Given the description of an element on the screen output the (x, y) to click on. 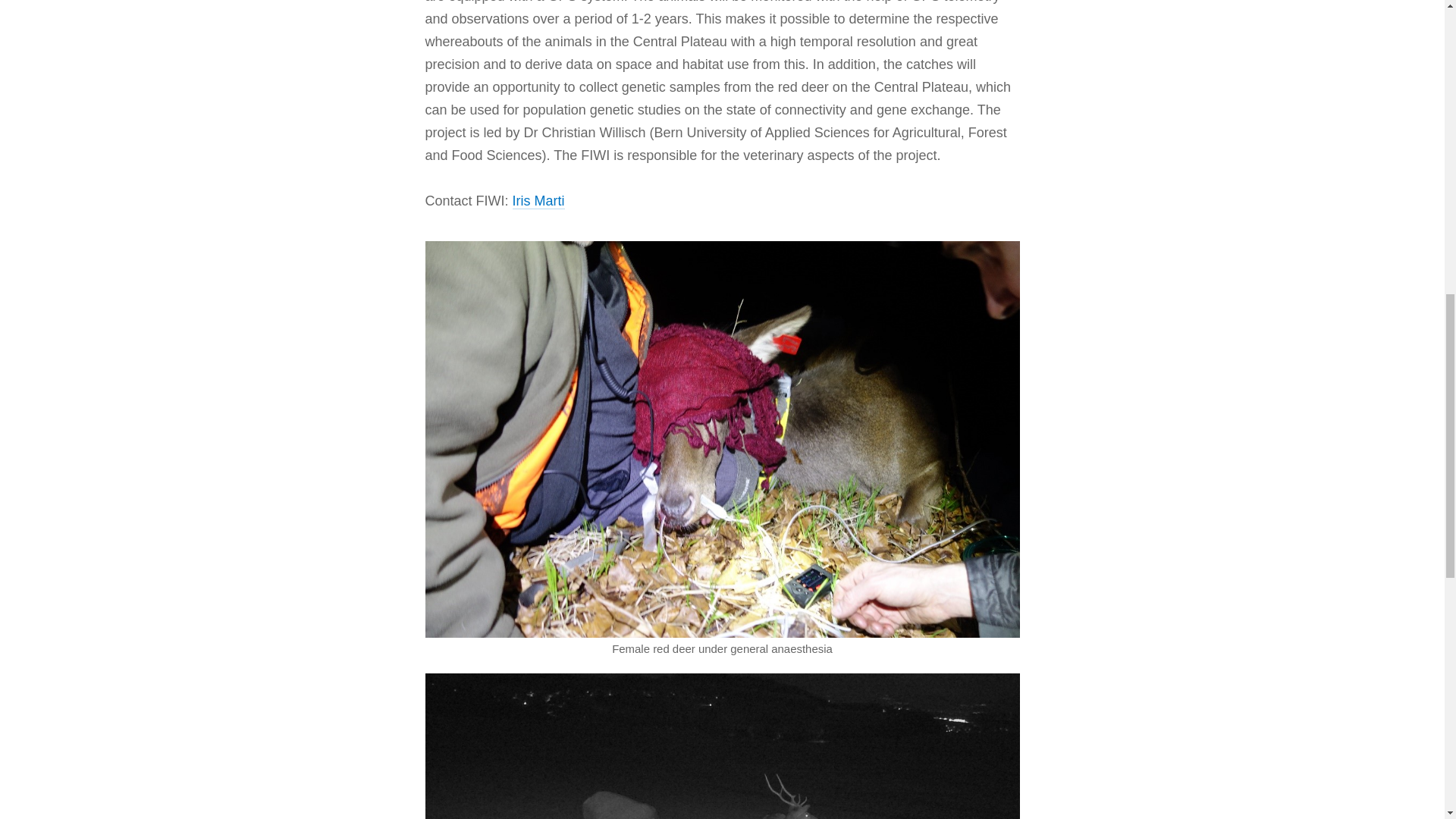
Male red deer on the Swiss Plateau (722, 746)
Iris Marti (538, 201)
